Given the description of an element on the screen output the (x, y) to click on. 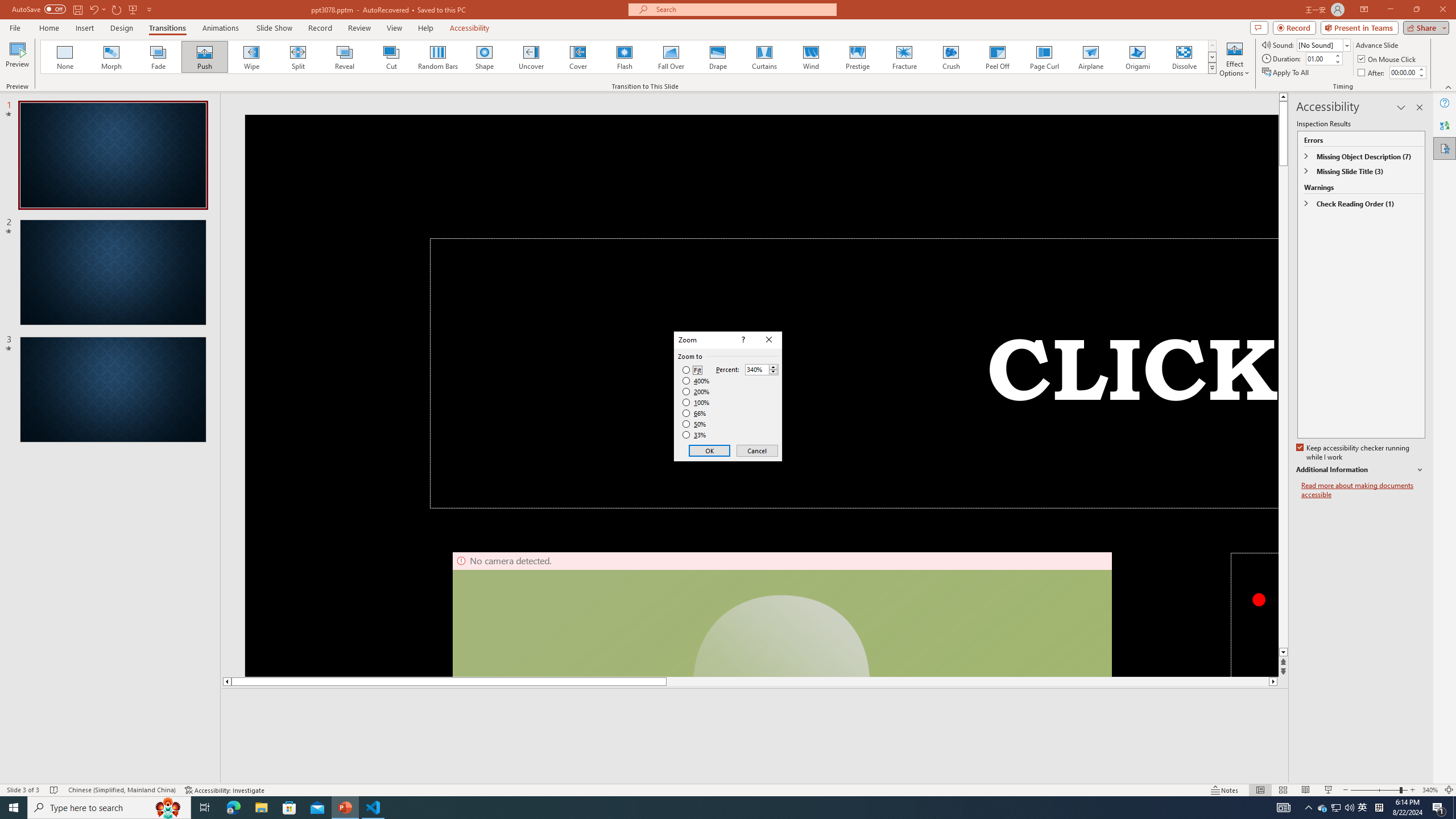
Zoom 340% (1430, 790)
400% (696, 380)
Wind (810, 56)
200% (696, 391)
